Given the description of an element on the screen output the (x, y) to click on. 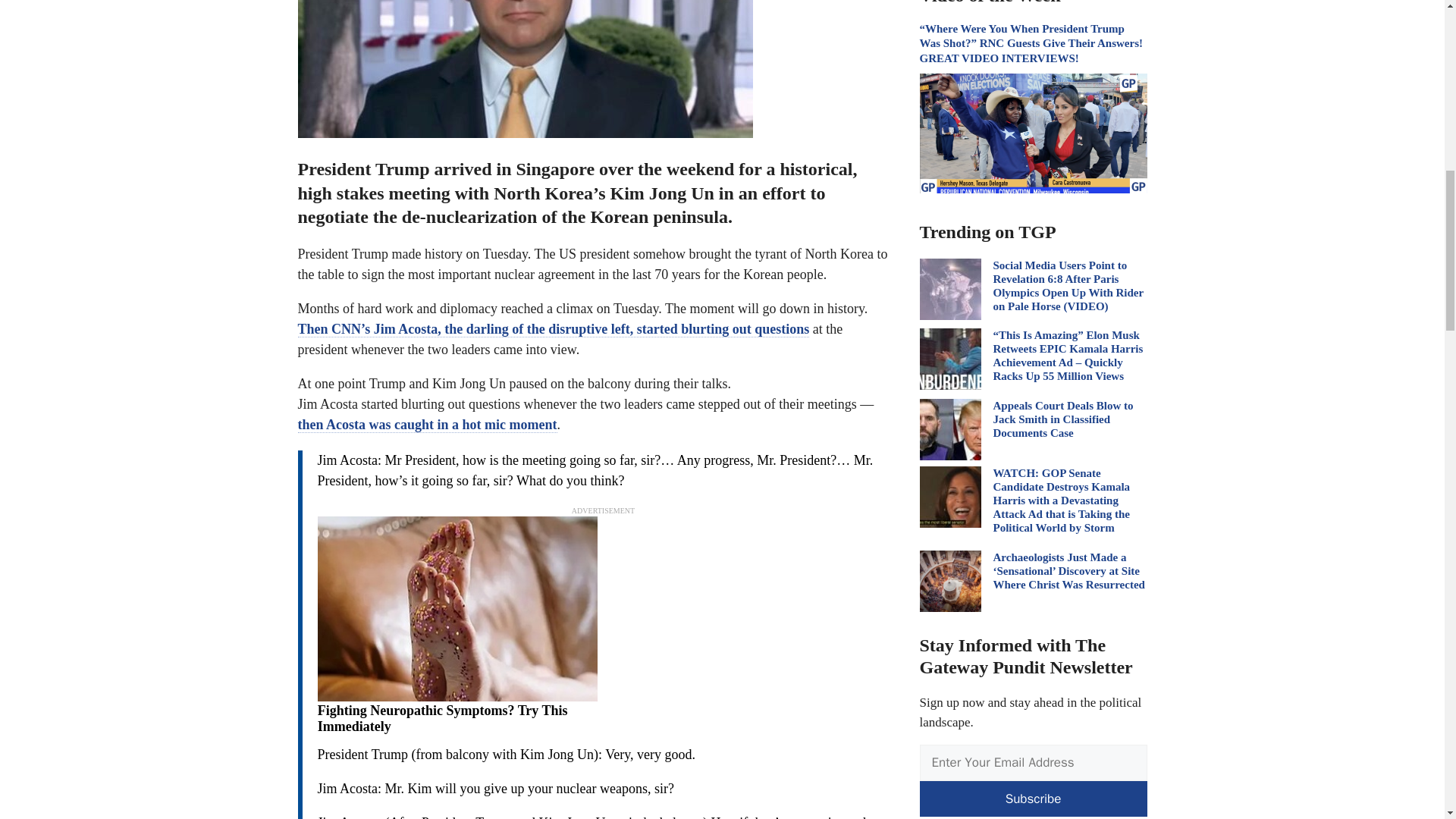
Subscribe (1032, 799)
